Given the description of an element on the screen output the (x, y) to click on. 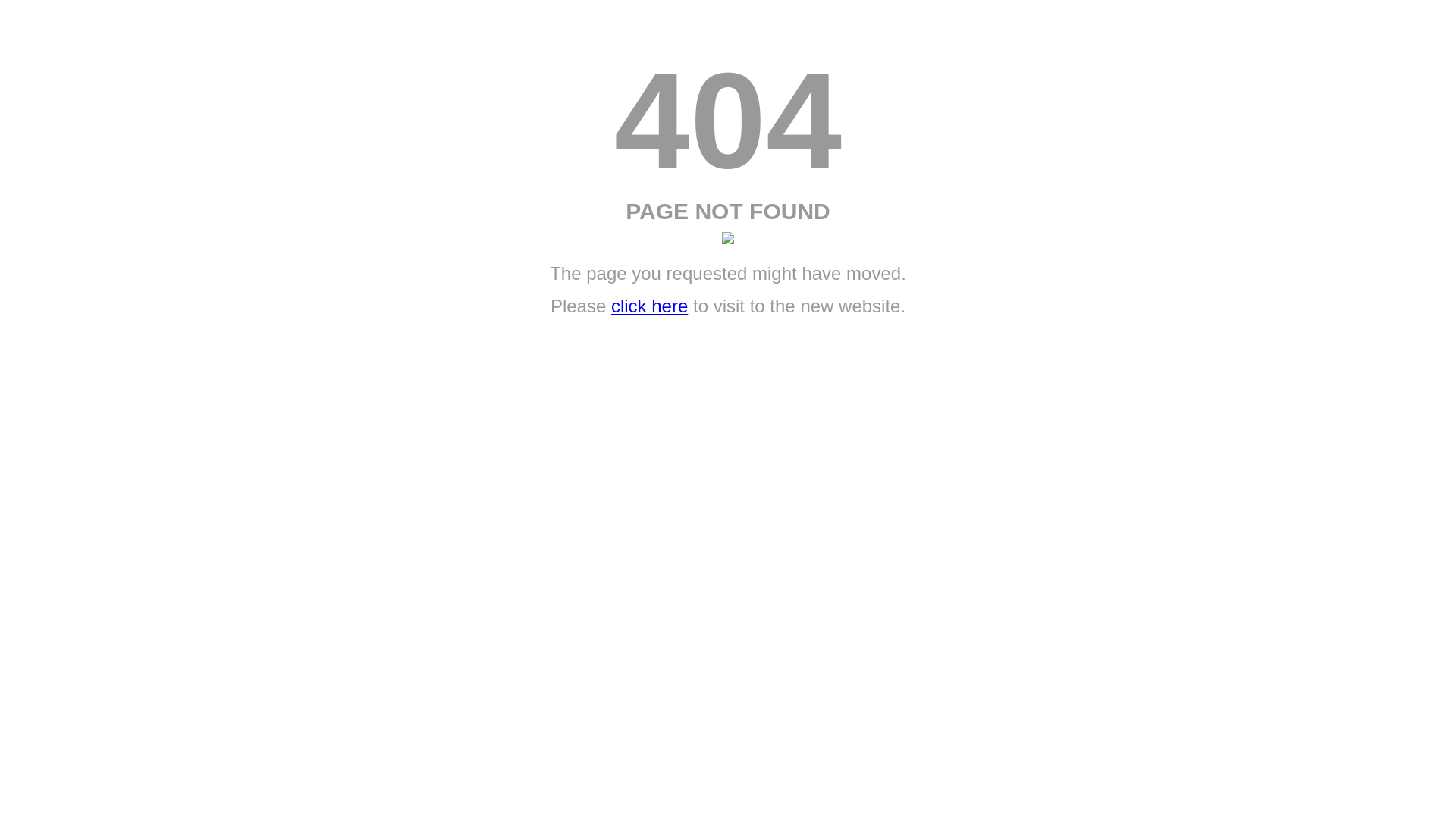
click here Element type: text (649, 305)
